Given the description of an element on the screen output the (x, y) to click on. 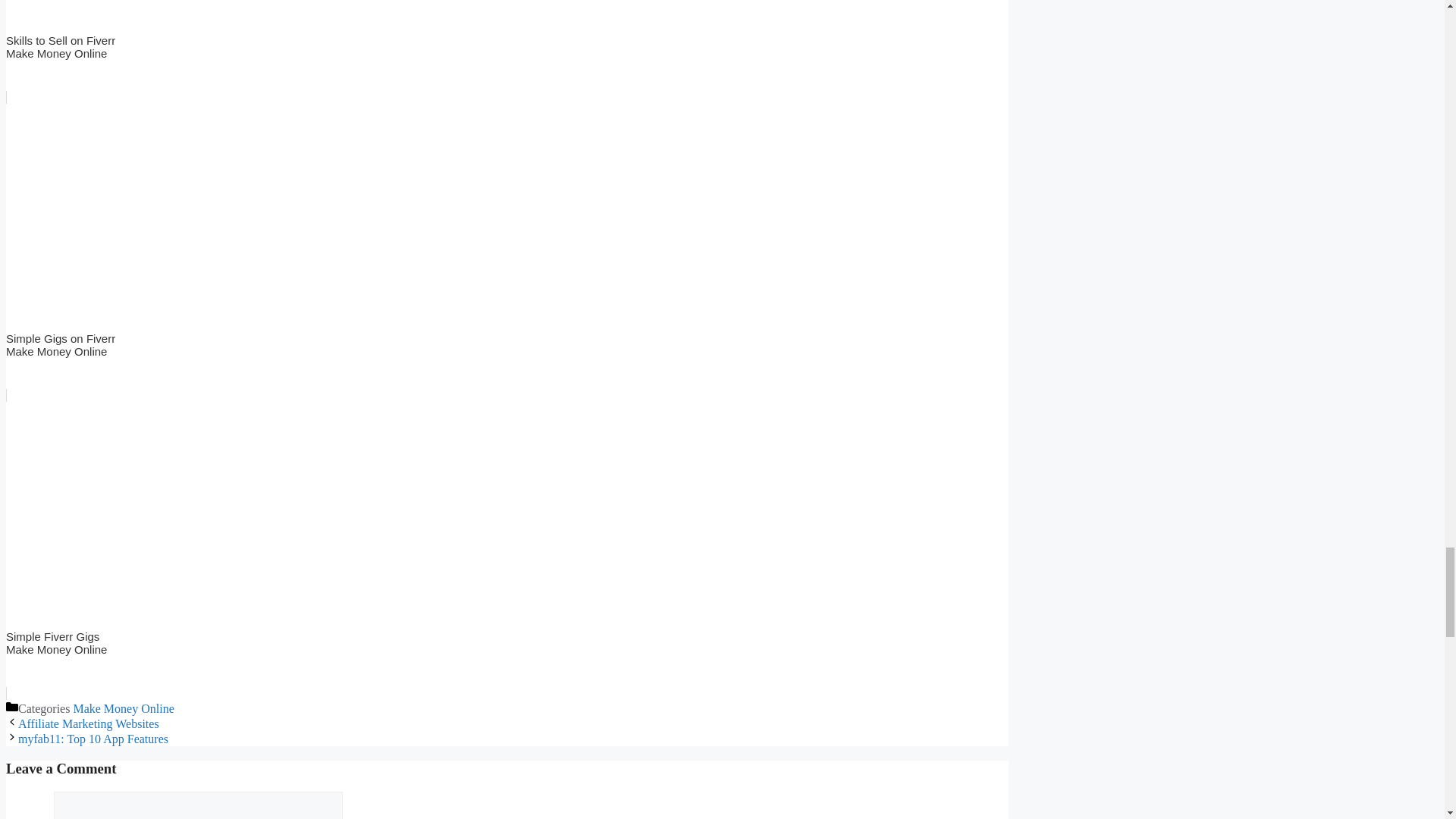
myfab11: Top 10 App Features (87, 723)
Make Money Online (507, 52)
